Given the description of an element on the screen output the (x, y) to click on. 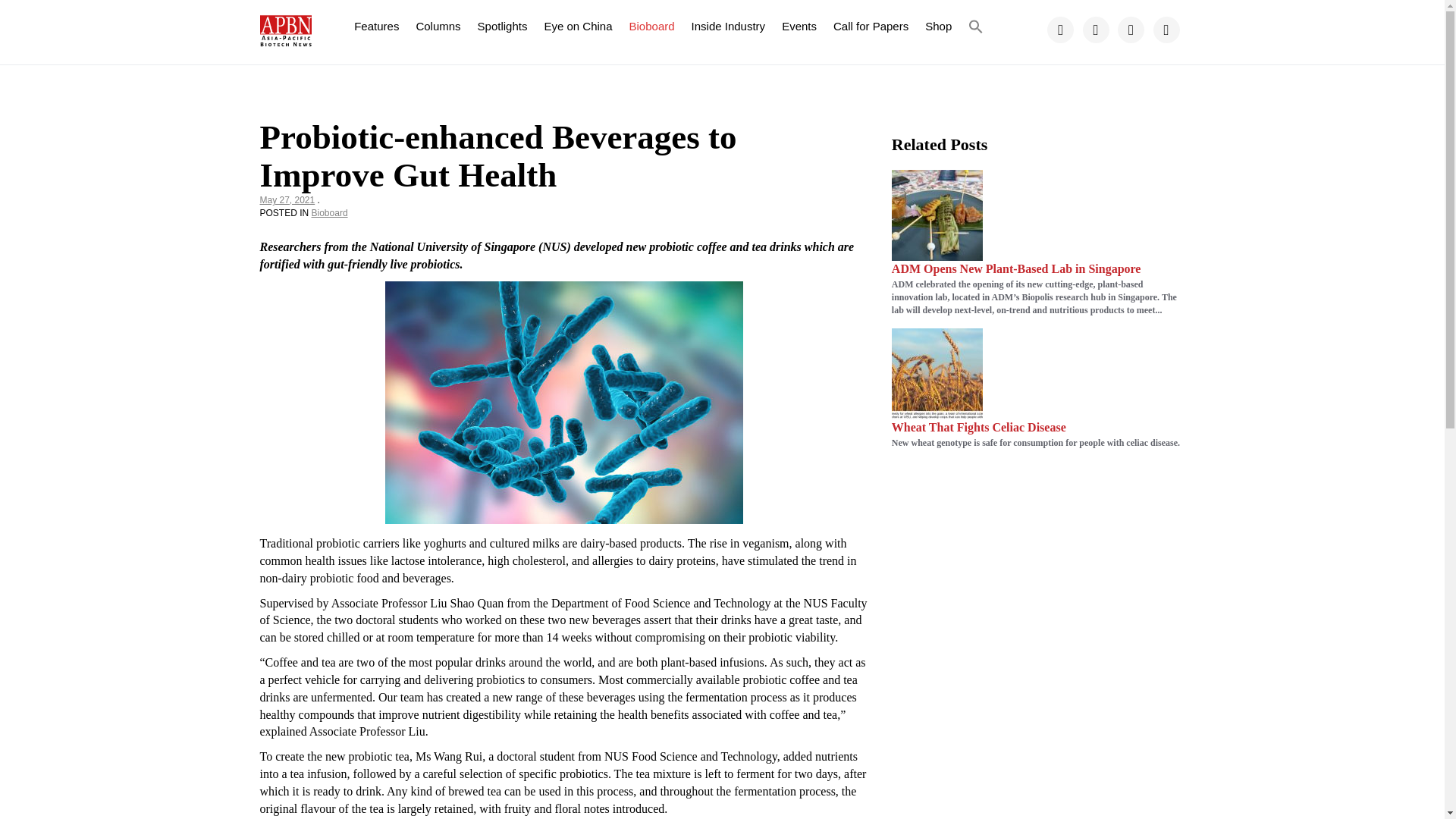
Spotlights (501, 26)
May 27, 2021 (286, 199)
Bioboard (329, 213)
Features (376, 26)
Bioboard (651, 26)
Eye on China (577, 26)
Shop (938, 26)
Events (799, 26)
Events (799, 26)
Call for Papers (871, 26)
Shop (938, 26)
Call for Papers (871, 26)
Columns (437, 26)
Features (376, 26)
Inside Industry (728, 26)
